Given the description of an element on the screen output the (x, y) to click on. 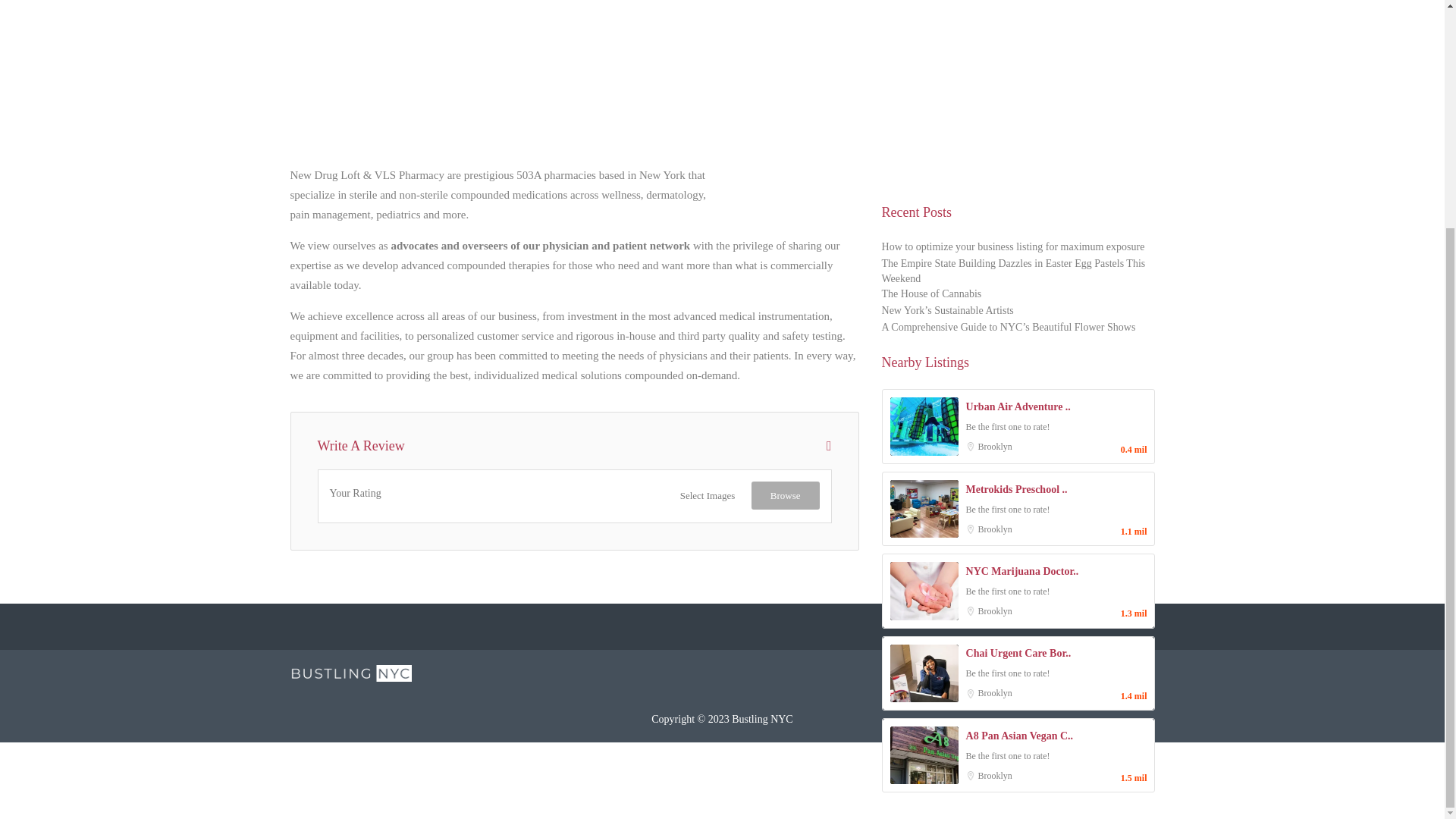
How to optimize your business listing for maximum exposure (1013, 247)
Browse (785, 495)
Claim your business now! (584, 260)
Advertisement (574, 71)
CHOOSE PLAN (721, 288)
Submit (413, 195)
Advertisement (1018, 93)
